Given the description of an element on the screen output the (x, y) to click on. 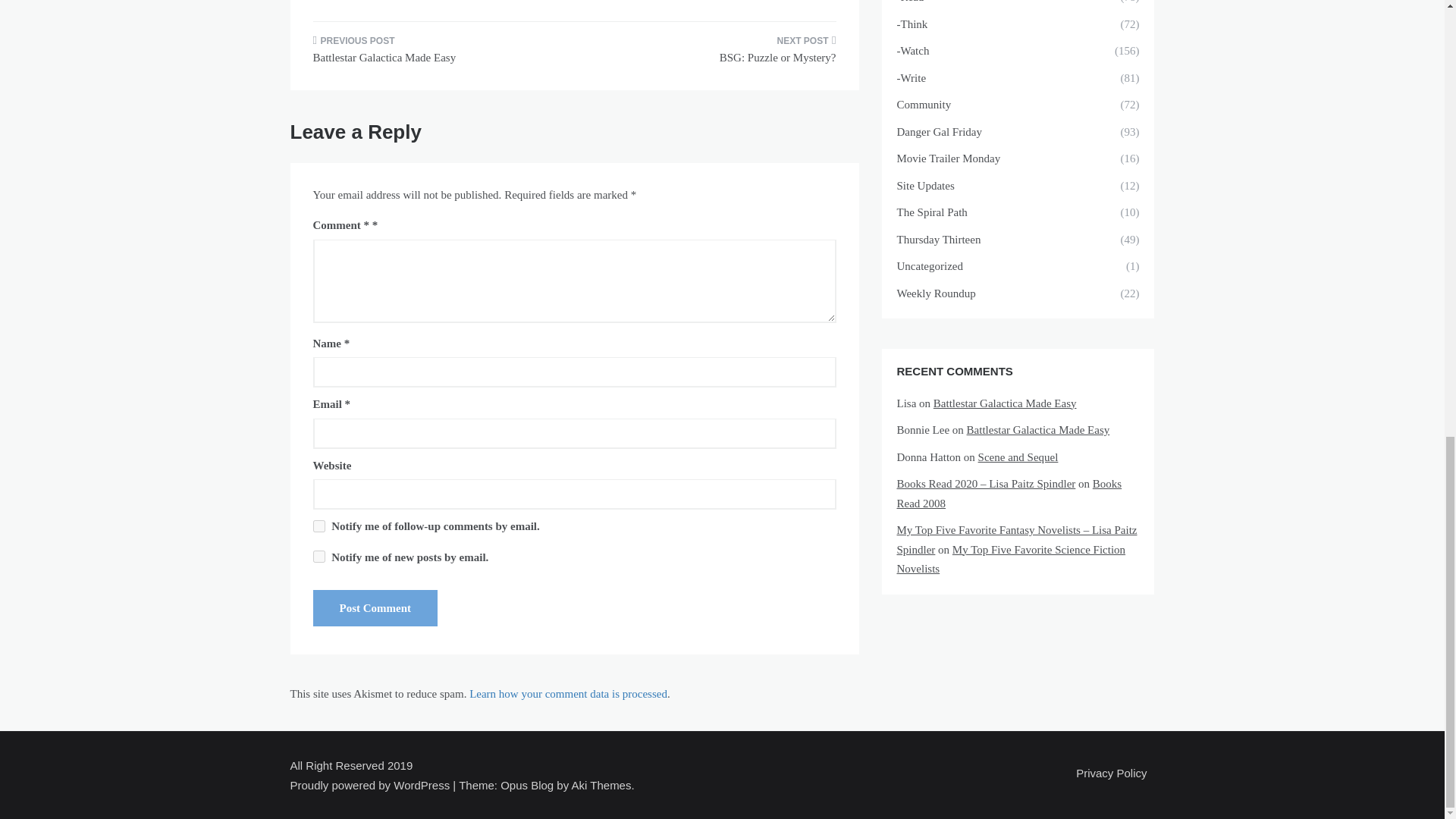
Battlestar Galactica Made Easy (437, 54)
Post Comment (375, 607)
subscribe (318, 526)
Post Comment (375, 607)
BSG: Puzzle or Mystery? (710, 54)
subscribe (318, 556)
Learn how your comment data is processed (567, 693)
